Given the description of an element on the screen output the (x, y) to click on. 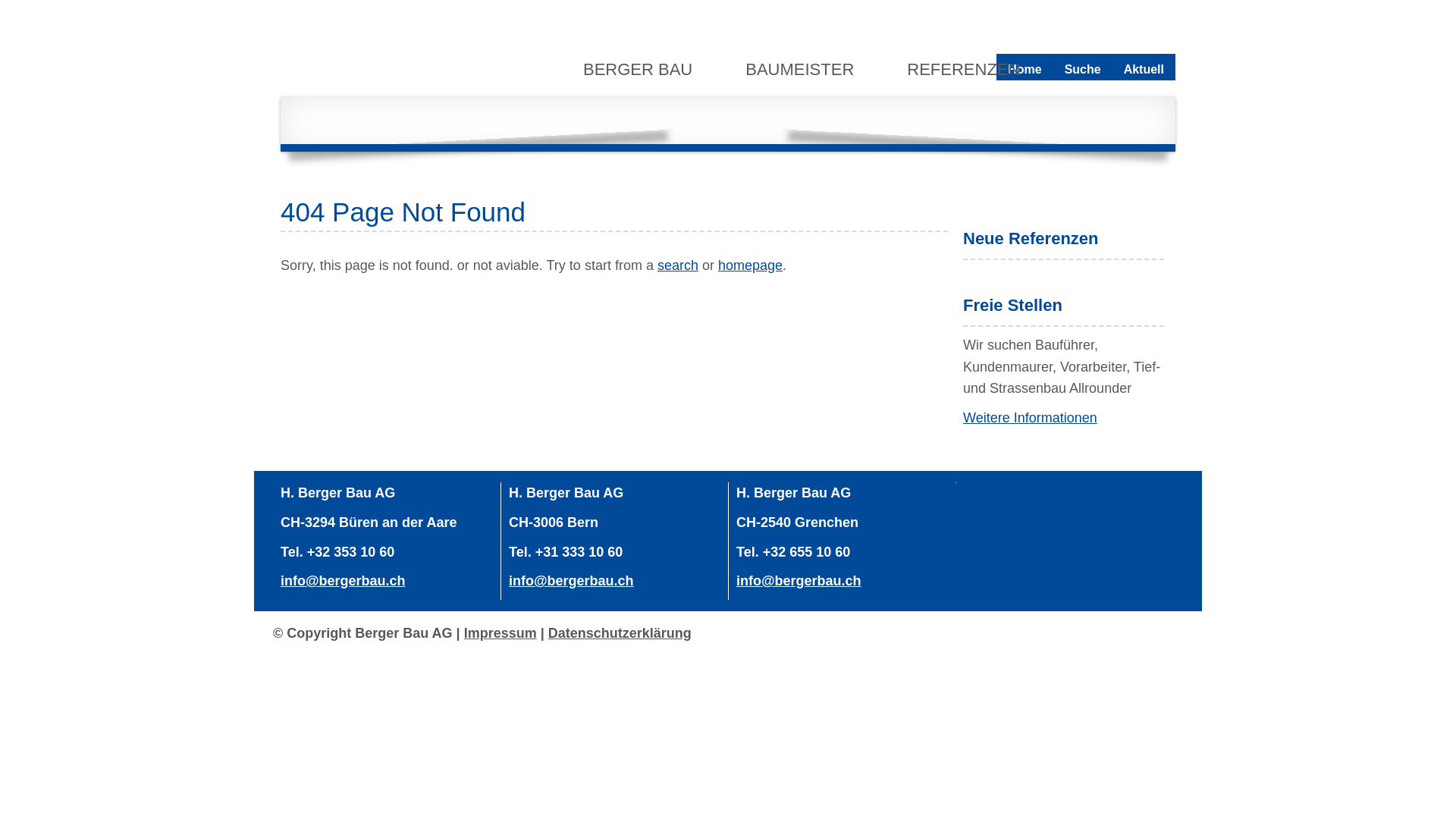
homepage Element type: text (750, 265)
KONTAKT Element type: text (623, 118)
Aktuell Element type: text (1143, 68)
Home Element type: text (1024, 68)
BAUMEISTER Element type: text (801, 67)
info@bergerbau.ch Element type: text (342, 580)
Weitere Informationen Element type: text (1030, 417)
REFERENZEN Element type: text (965, 67)
info@bergerbau.ch Element type: text (798, 580)
BERGER BAU Element type: text (639, 67)
Next Element type: text (1108, 120)
search Element type: text (677, 265)
Previous Element type: text (347, 120)
Suche Element type: text (1082, 68)
Impressum Element type: text (500, 632)
info@bergerbau.ch Element type: text (570, 580)
